Given the description of an element on the screen output the (x, y) to click on. 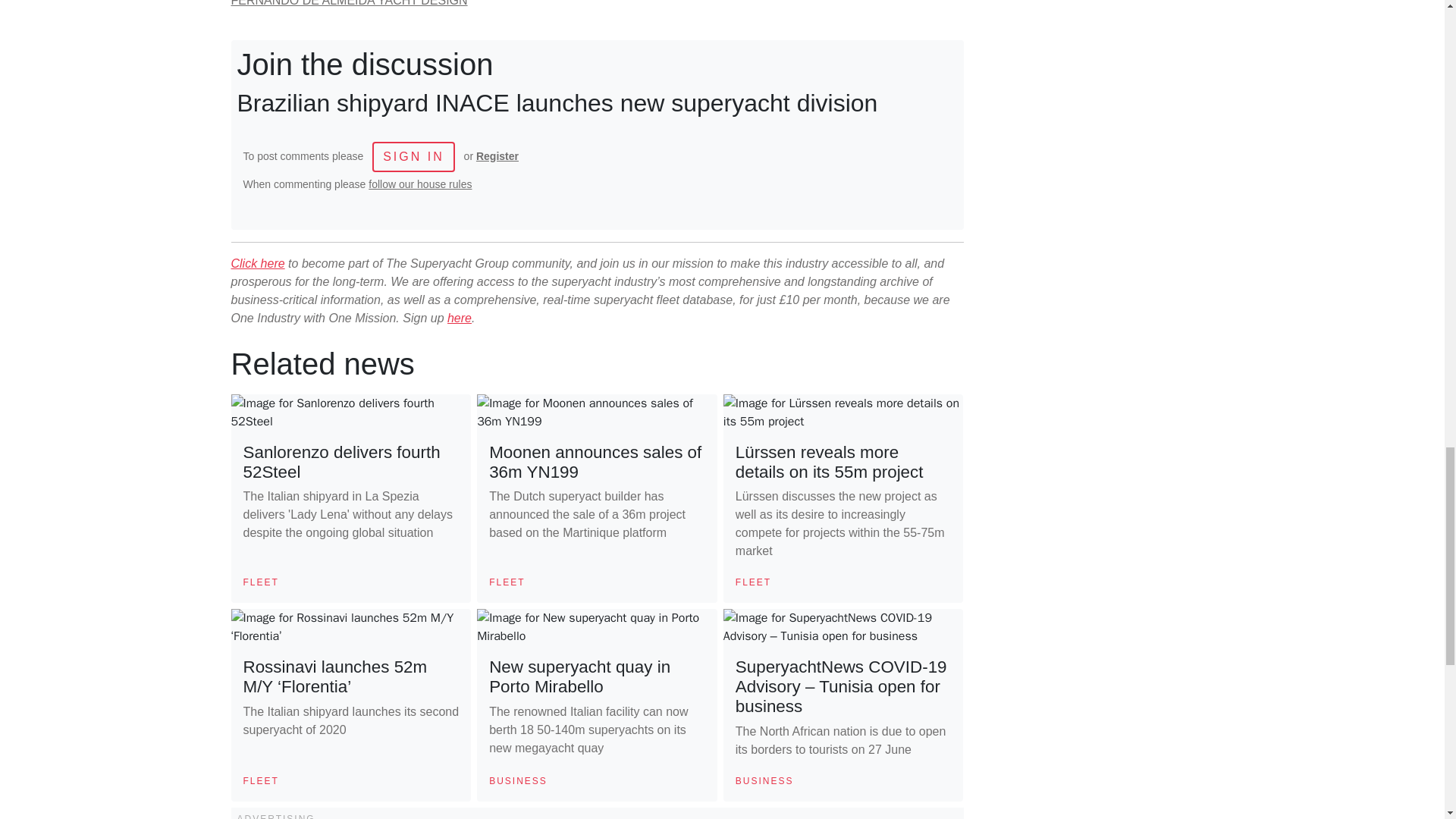
Sanlorenzo delivers fourth 52Steel (341, 462)
Moonen announces sales of 36m YN199 (595, 462)
Click here (256, 263)
here (458, 318)
FERNANDO DE ALMEIDA YACHT DESIGN (348, 3)
follow our house rules (419, 184)
New superyacht quay in Porto Mirabello (579, 676)
